Given the description of an element on the screen output the (x, y) to click on. 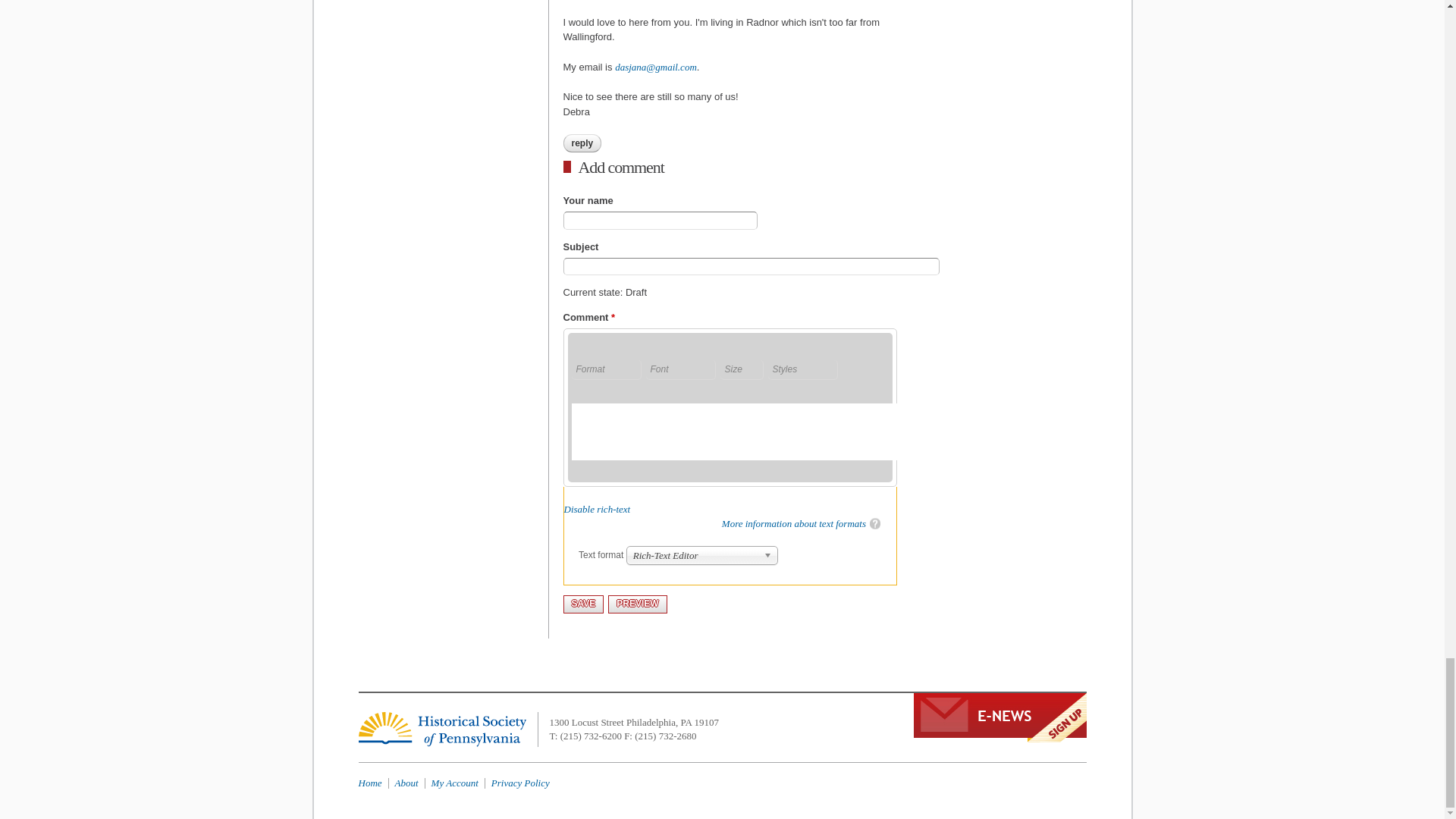
Preview (637, 603)
Save (583, 603)
